Given the description of an element on the screen output the (x, y) to click on. 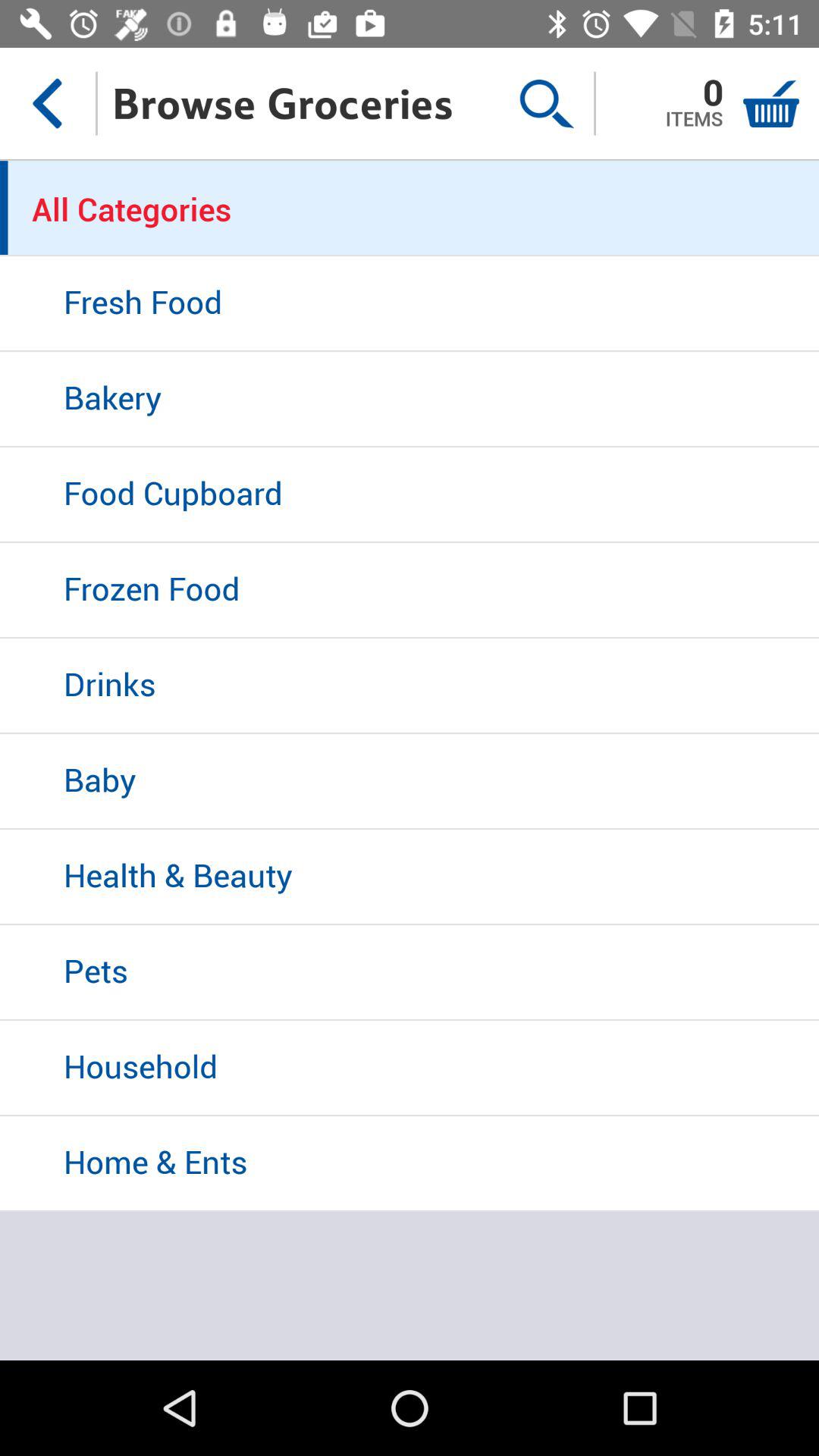
choose icon above the drinks (409, 590)
